Given the description of an element on the screen output the (x, y) to click on. 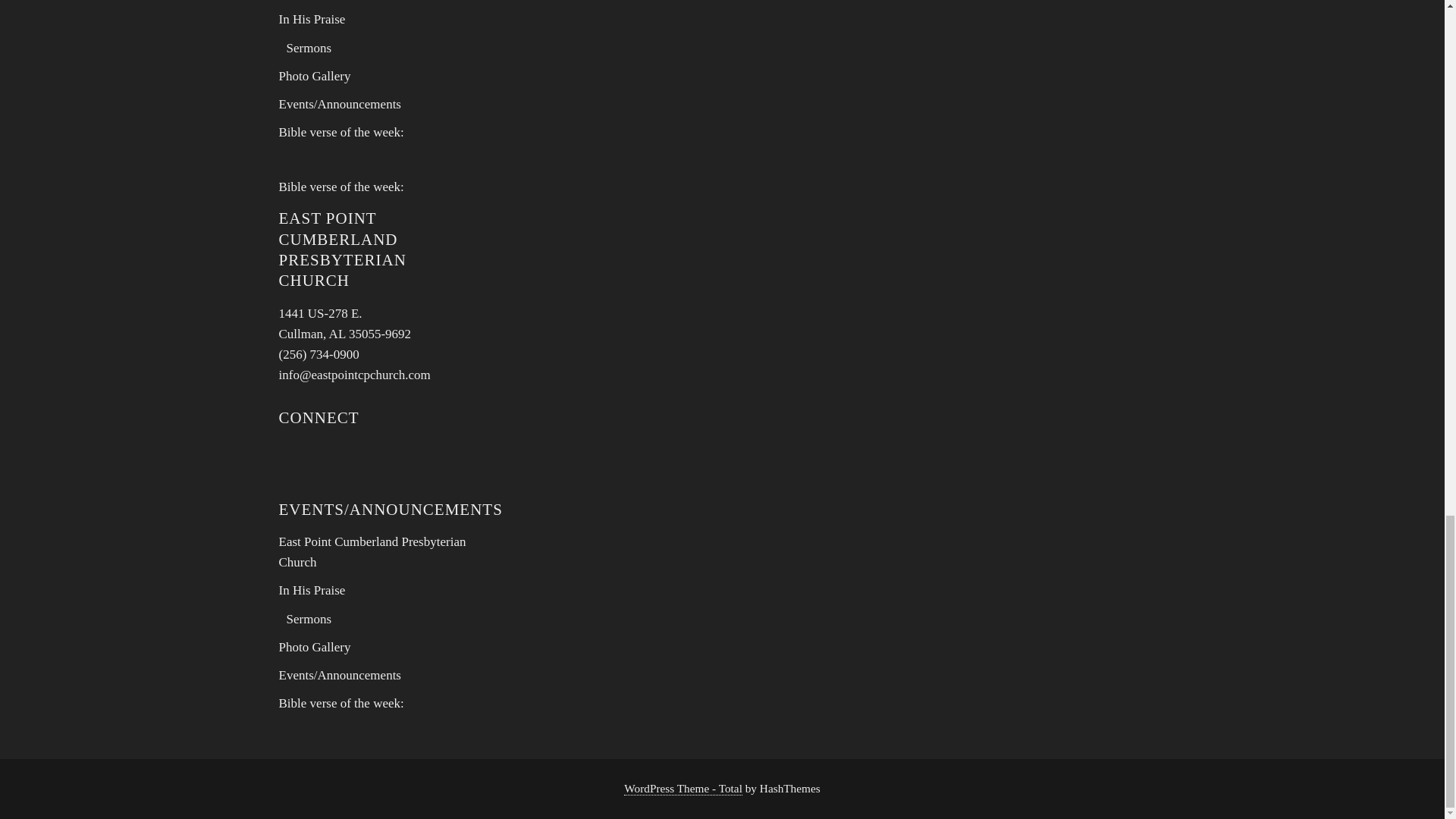
Photo Gallery (314, 75)
Email (297, 458)
East Point Cumberland Presbyterian Church (345, 323)
Bible verse of the week: (372, 551)
Sermons (341, 132)
In His Praise (308, 47)
Facebook (312, 19)
